Given the description of an element on the screen output the (x, y) to click on. 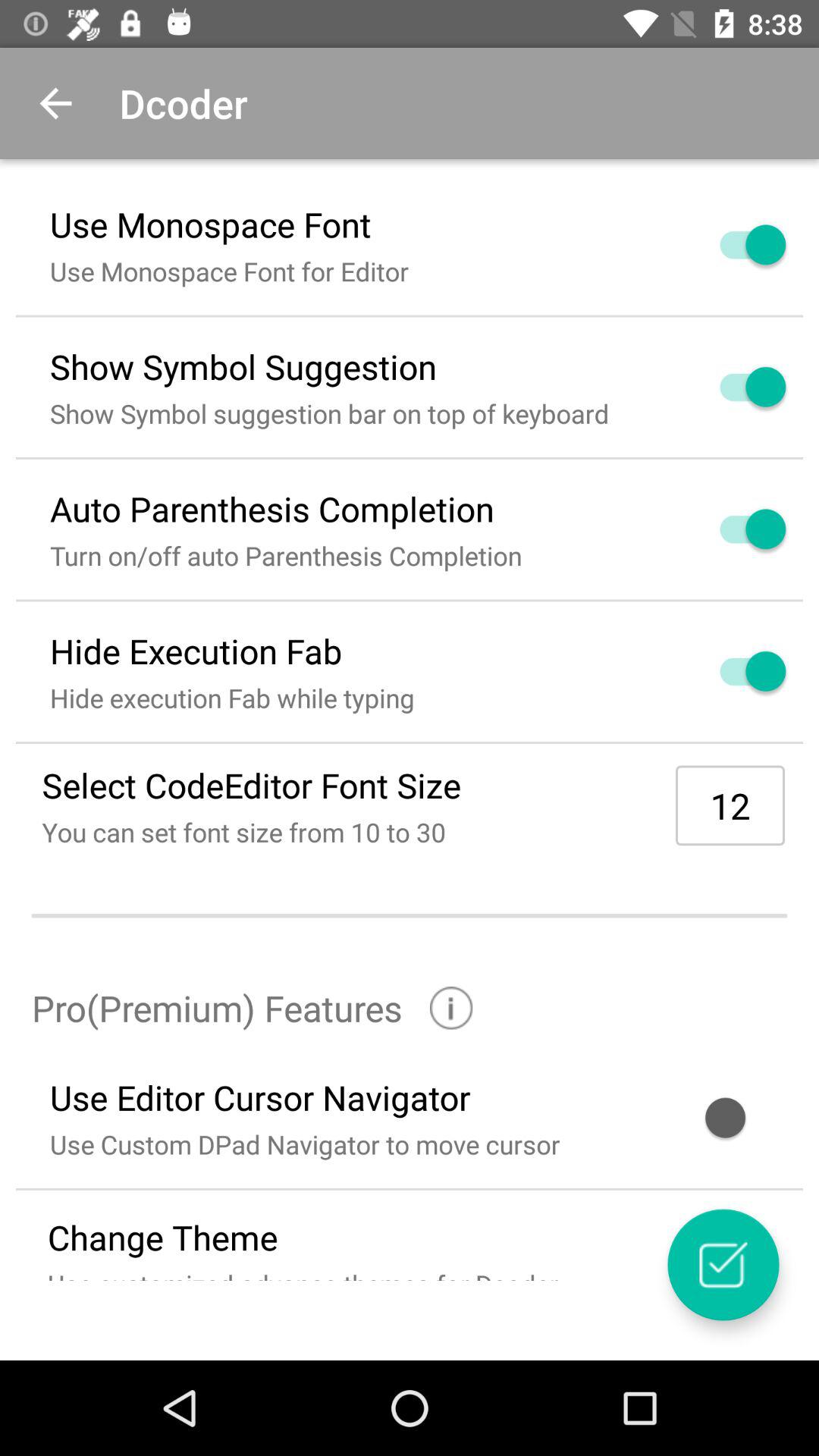
open icon to the right of the select codeeditor font item (729, 805)
